Given the description of an element on the screen output the (x, y) to click on. 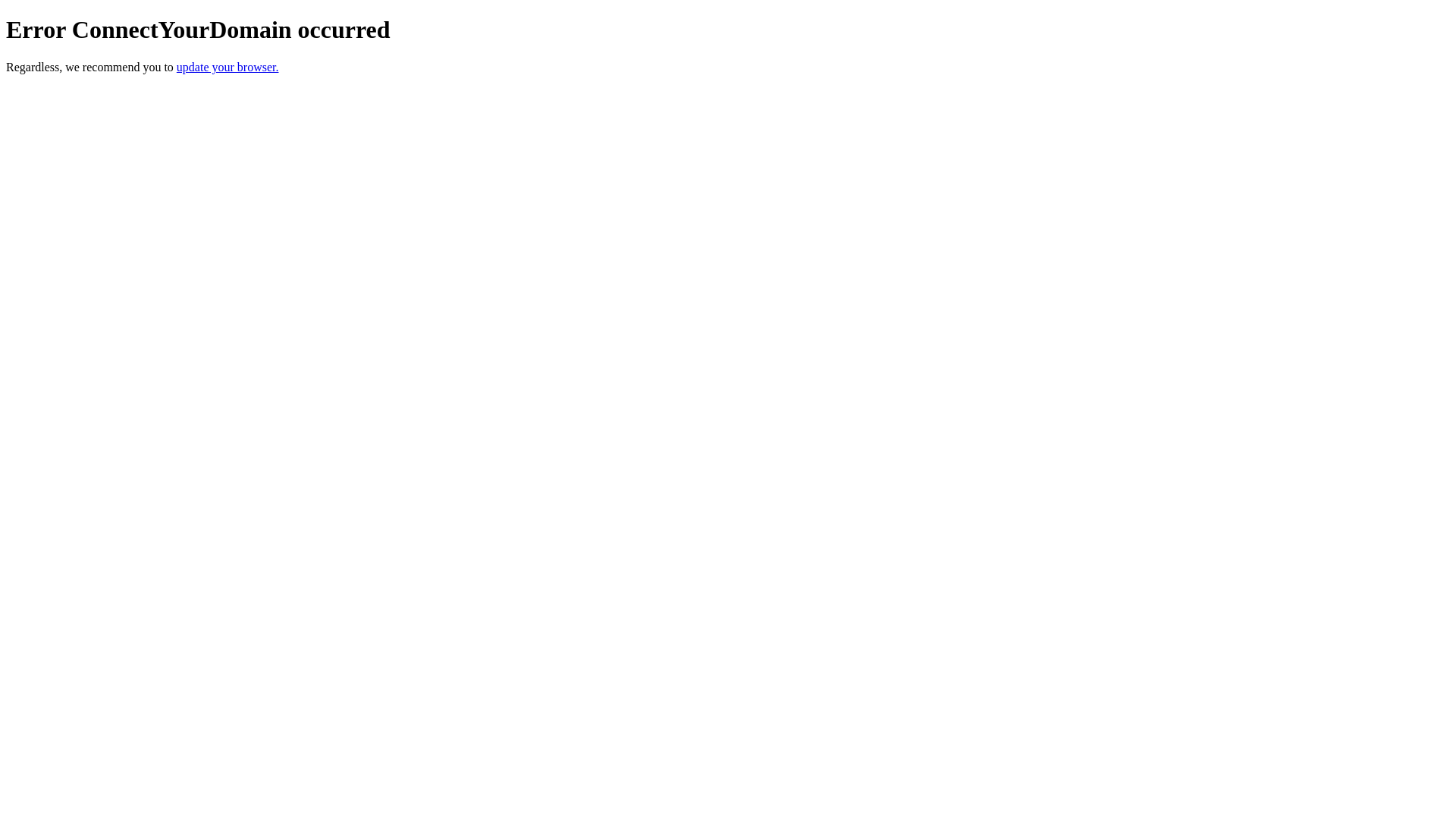
update your browser. Element type: text (227, 66)
